Given the description of an element on the screen output the (x, y) to click on. 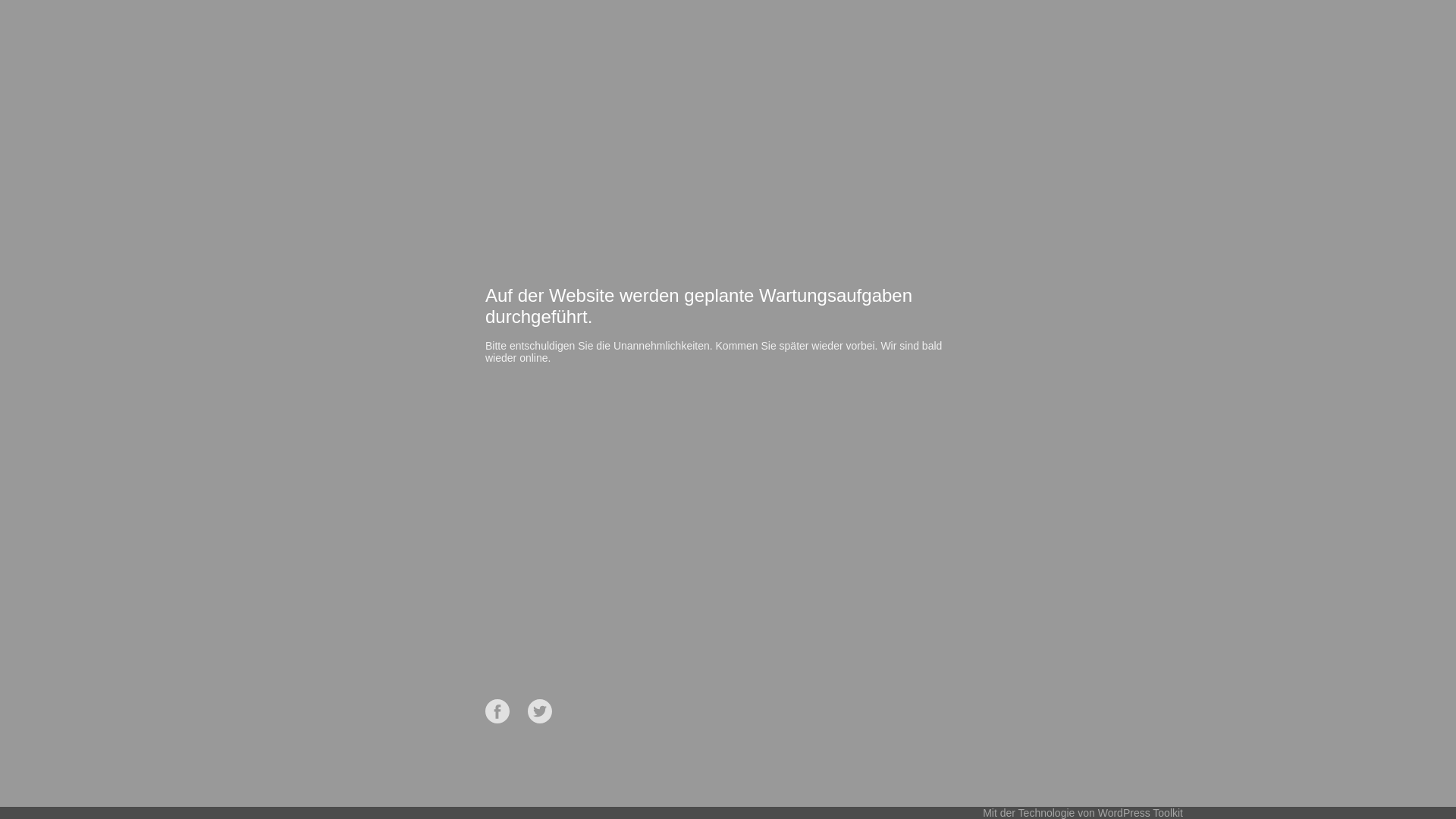
Twitter Element type: hover (539, 711)
Facebook Element type: hover (497, 711)
